Given the description of an element on the screen output the (x, y) to click on. 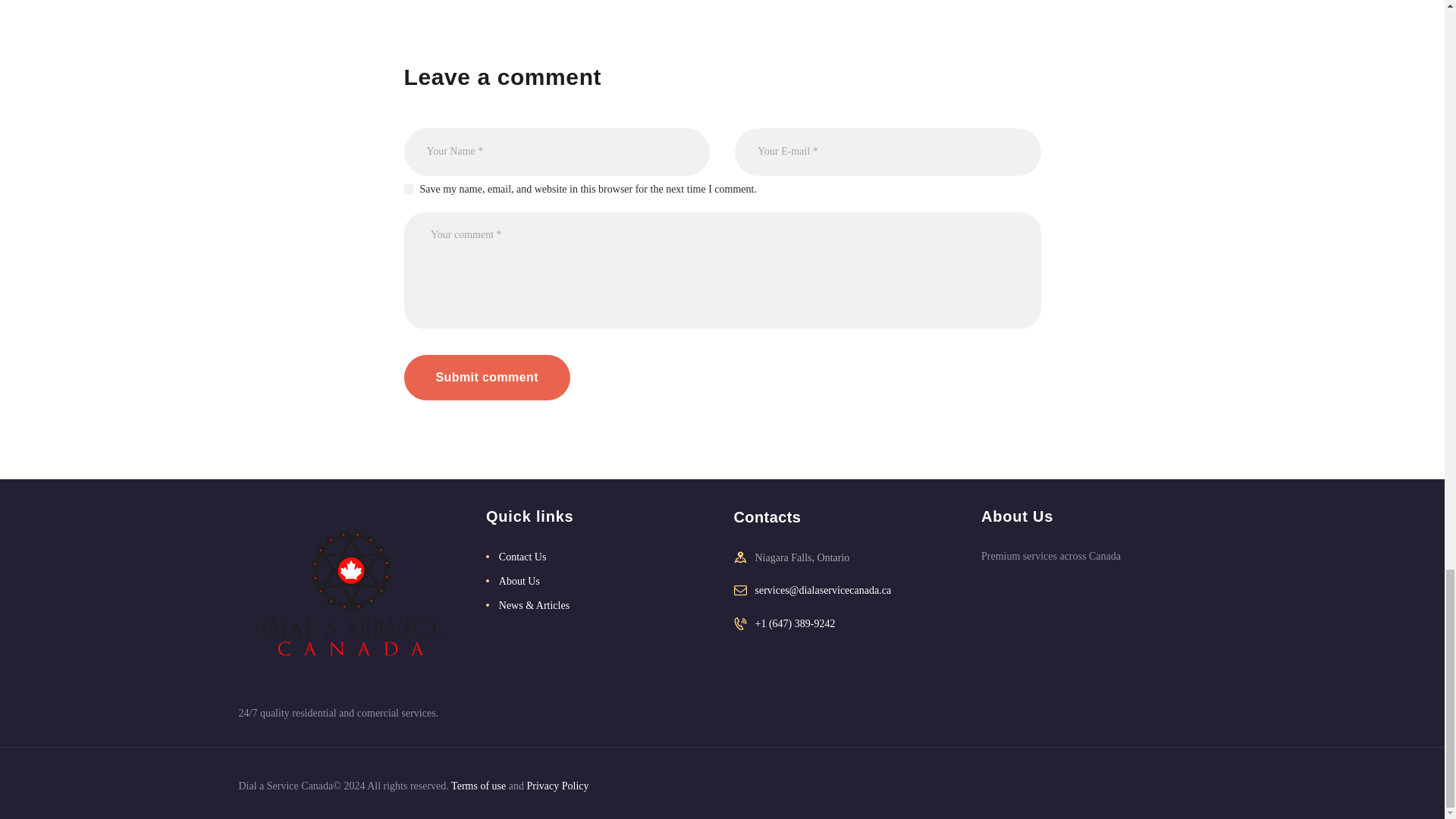
Submit comment (486, 377)
